Given the description of an element on the screen output the (x, y) to click on. 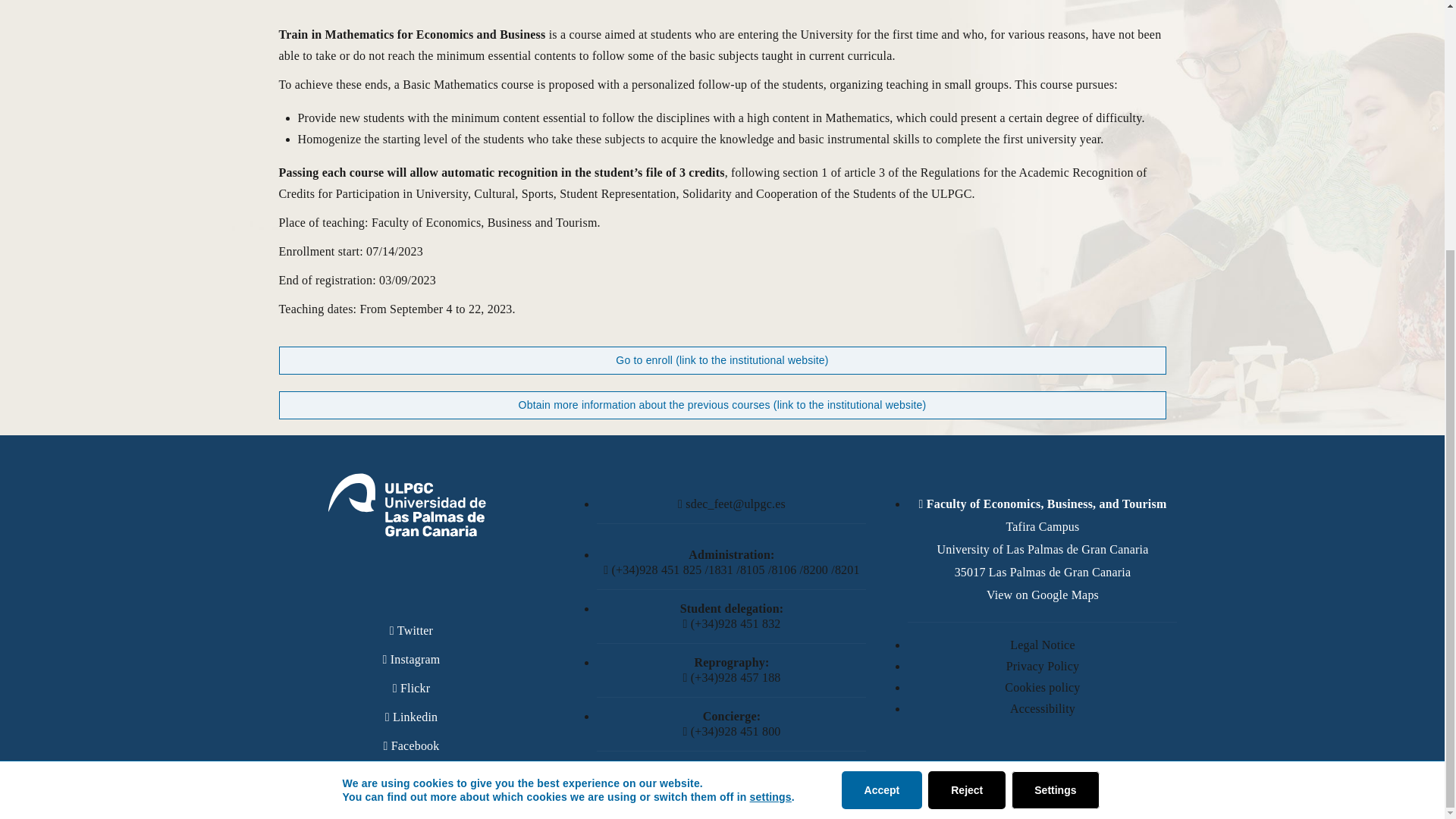
Twitter (411, 630)
Instagram (410, 658)
Universidad de Las Palmas de Gran Canaria (406, 505)
